Given the description of an element on the screen output the (x, y) to click on. 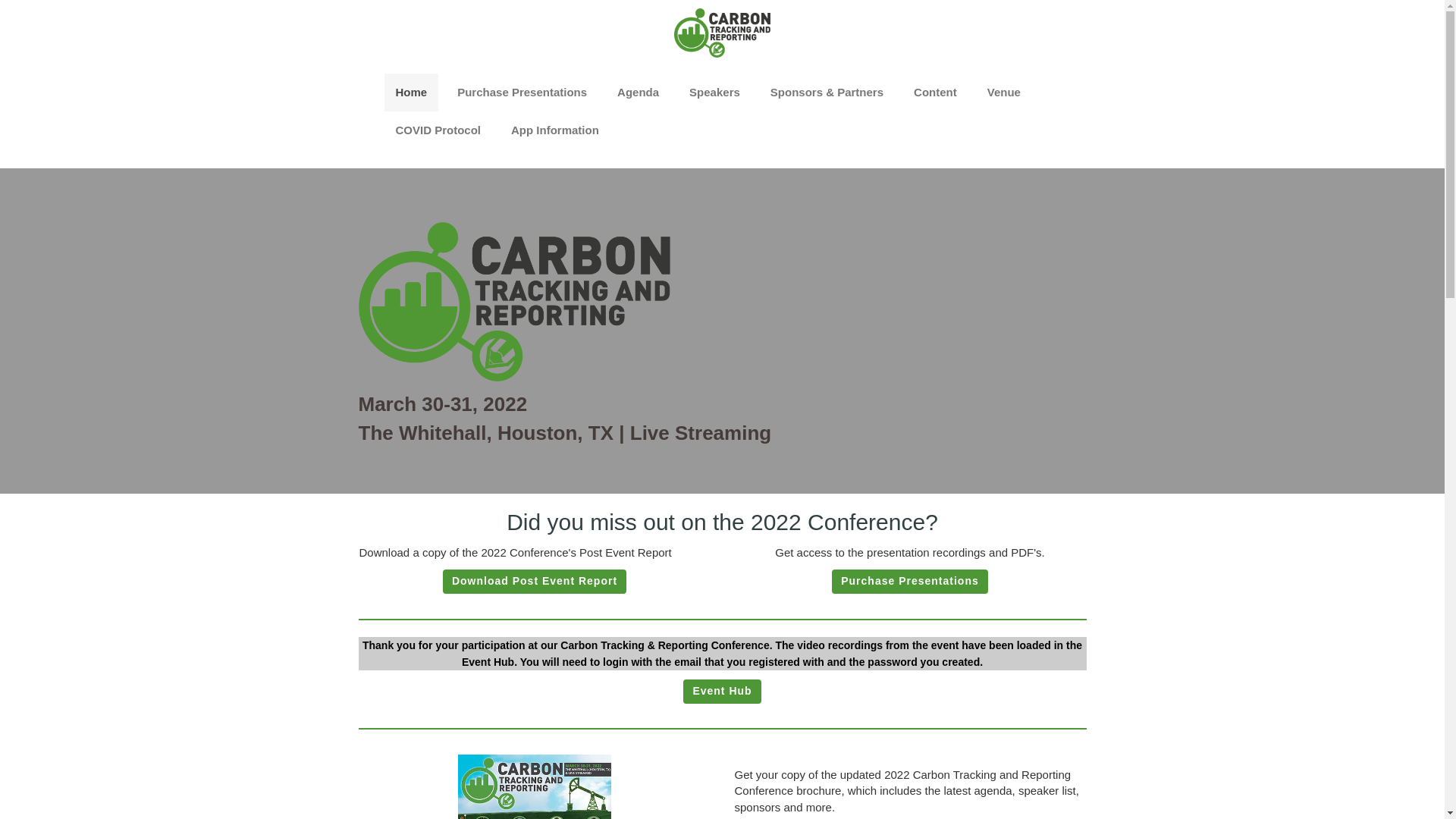
Content (935, 92)
App Information (554, 130)
Venue (1003, 92)
Home (411, 92)
Speakers (714, 92)
Agenda (637, 92)
COVID Protocol (438, 130)
Purchase Presentations (521, 92)
Purchase Presentations (909, 581)
Event Hub (721, 691)
Download Post Event Report (534, 581)
